Given the description of an element on the screen output the (x, y) to click on. 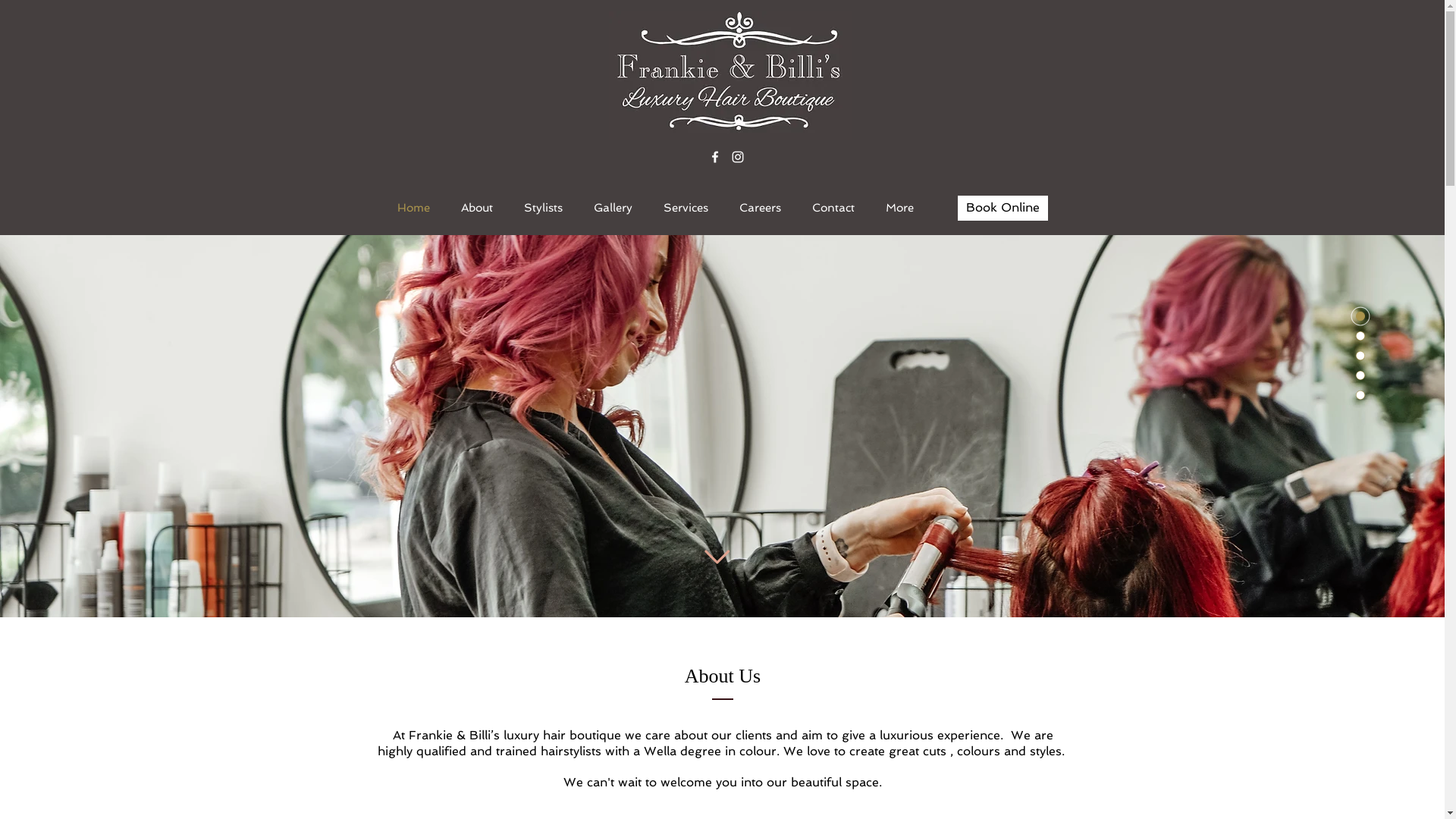
Home Element type: text (412, 207)
Gallery Element type: text (612, 207)
Book Online Element type: text (1002, 207)
Stylists Element type: text (542, 207)
Careers Element type: text (759, 207)
About Element type: text (476, 207)
Services Element type: text (685, 207)
Contact Element type: text (832, 207)
